Given the description of an element on the screen output the (x, y) to click on. 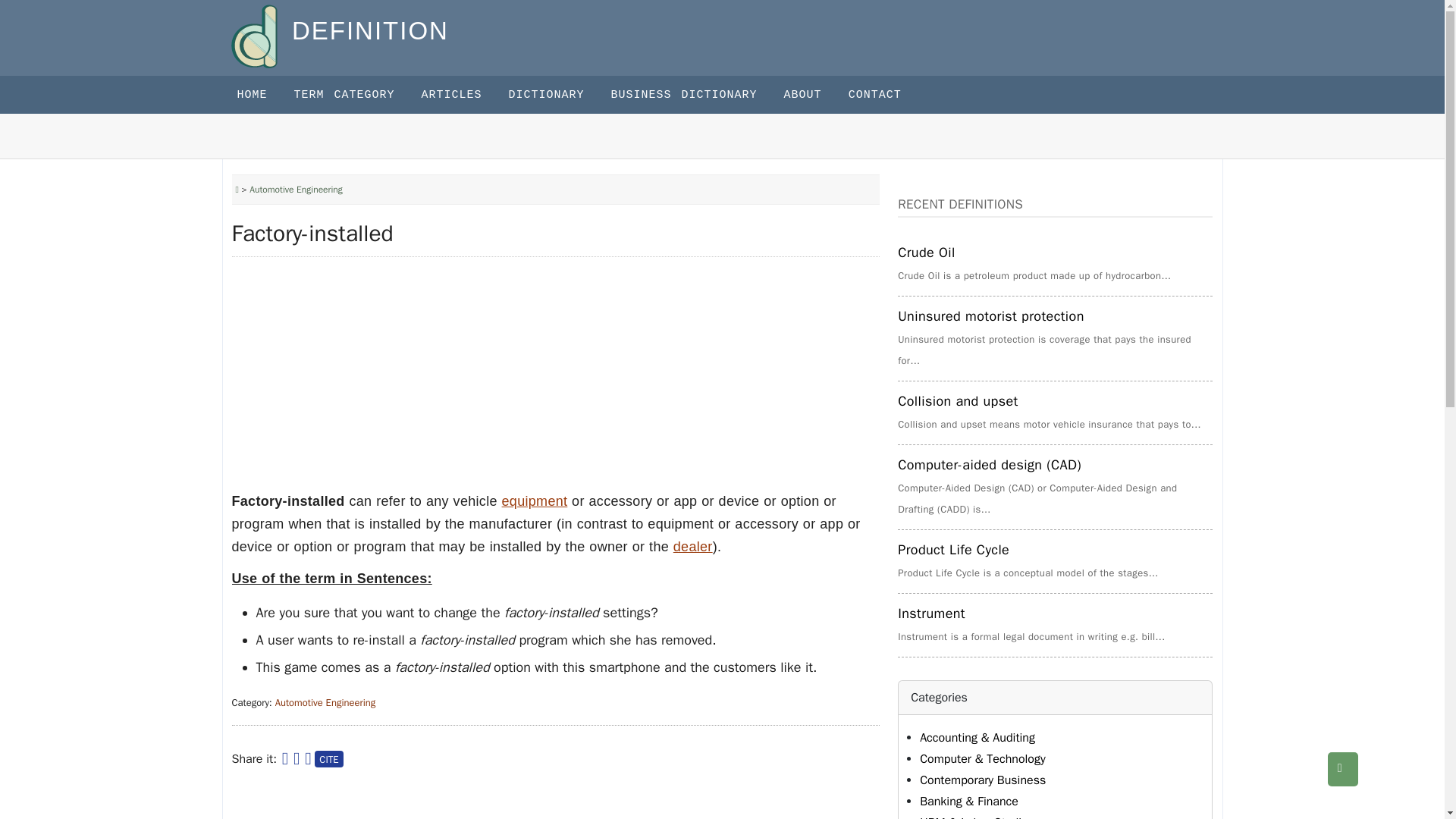
Automotive Engineering (295, 189)
CITE (328, 759)
TERM CATEGORY (358, 94)
Contemporary Business (982, 780)
dealer (692, 546)
CONTACT (888, 94)
BUSINESS DICTIONARY (697, 94)
Automotive Engineering (325, 702)
dealer (692, 546)
